Given the description of an element on the screen output the (x, y) to click on. 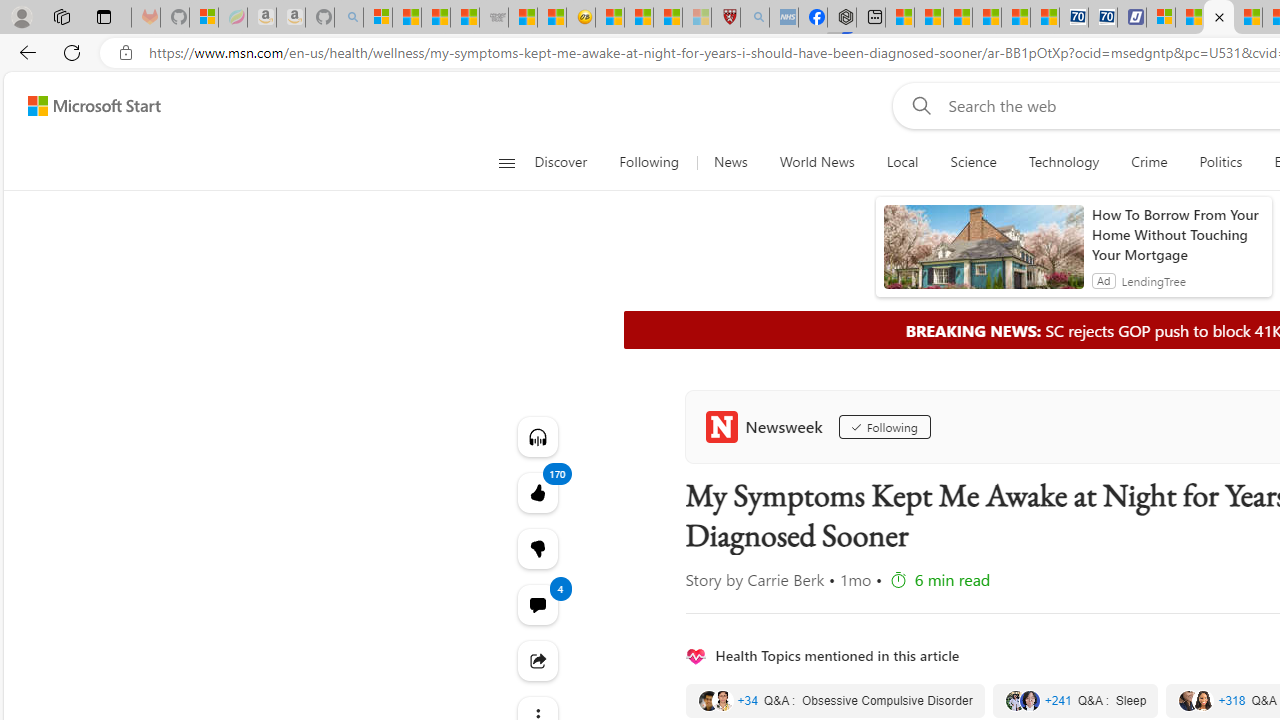
Nordace - Nordace Siena Is Not An Ordinary Backpack (842, 17)
Sleep (1075, 700)
Local (902, 162)
Politics (1220, 162)
Newsweek (767, 426)
list of asthma inhalers uk - Search - Sleeping (755, 17)
